Given the description of an element on the screen output the (x, y) to click on. 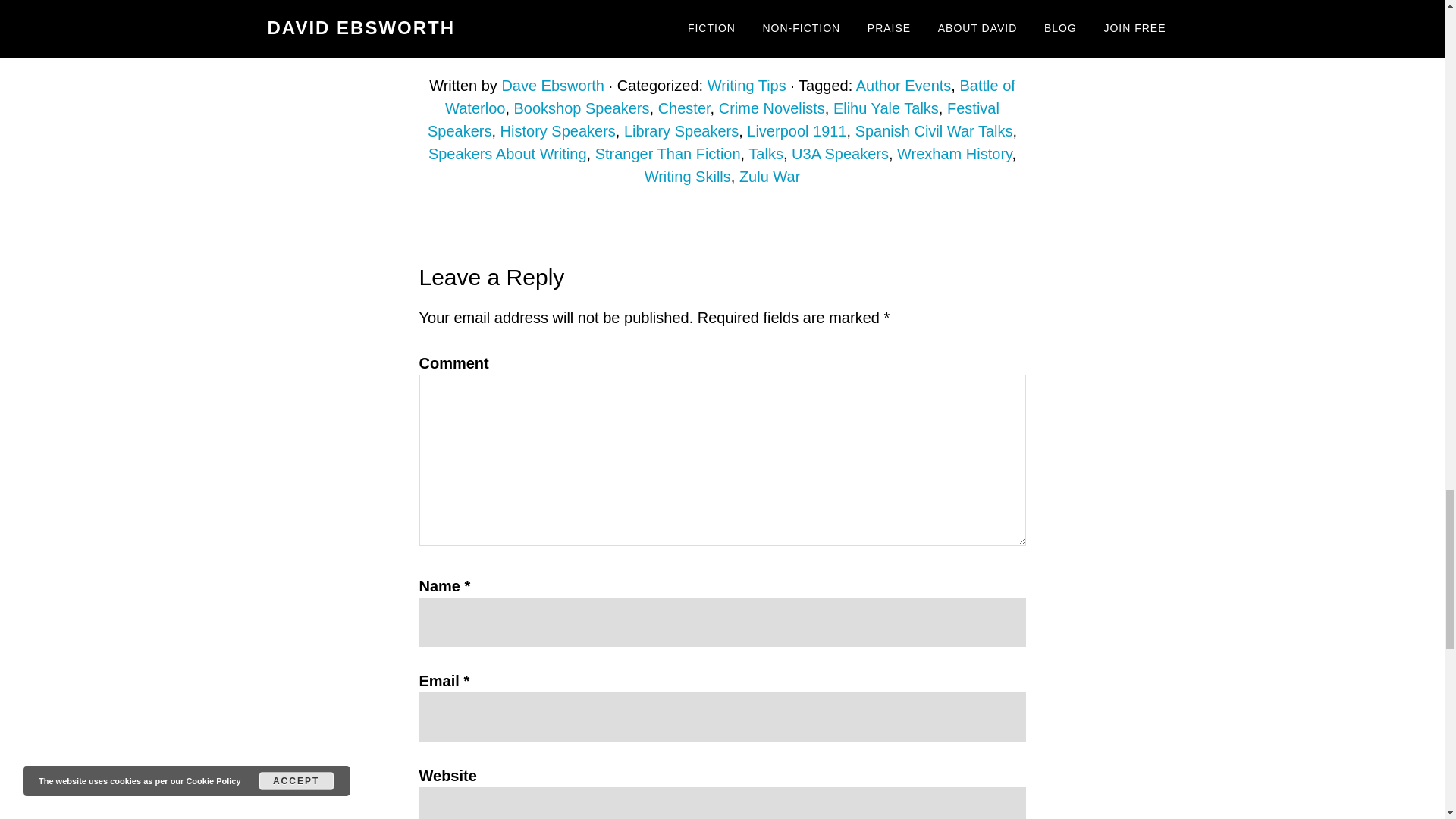
U3A Speakers (840, 153)
Talks (765, 153)
Chester (684, 108)
Liverpool 1911 (795, 130)
Stranger Than Fiction (668, 153)
Library Speakers (681, 130)
Spanish Civil War Talks (934, 130)
Writing Tips (746, 85)
History Speakers (557, 130)
Crime Novelists (772, 108)
Speakers About Writing (507, 153)
Elihu Yale Talks (885, 108)
Dave Ebsworth (552, 85)
Bookshop Speakers (581, 108)
Battle of Waterloo (729, 96)
